Given the description of an element on the screen output the (x, y) to click on. 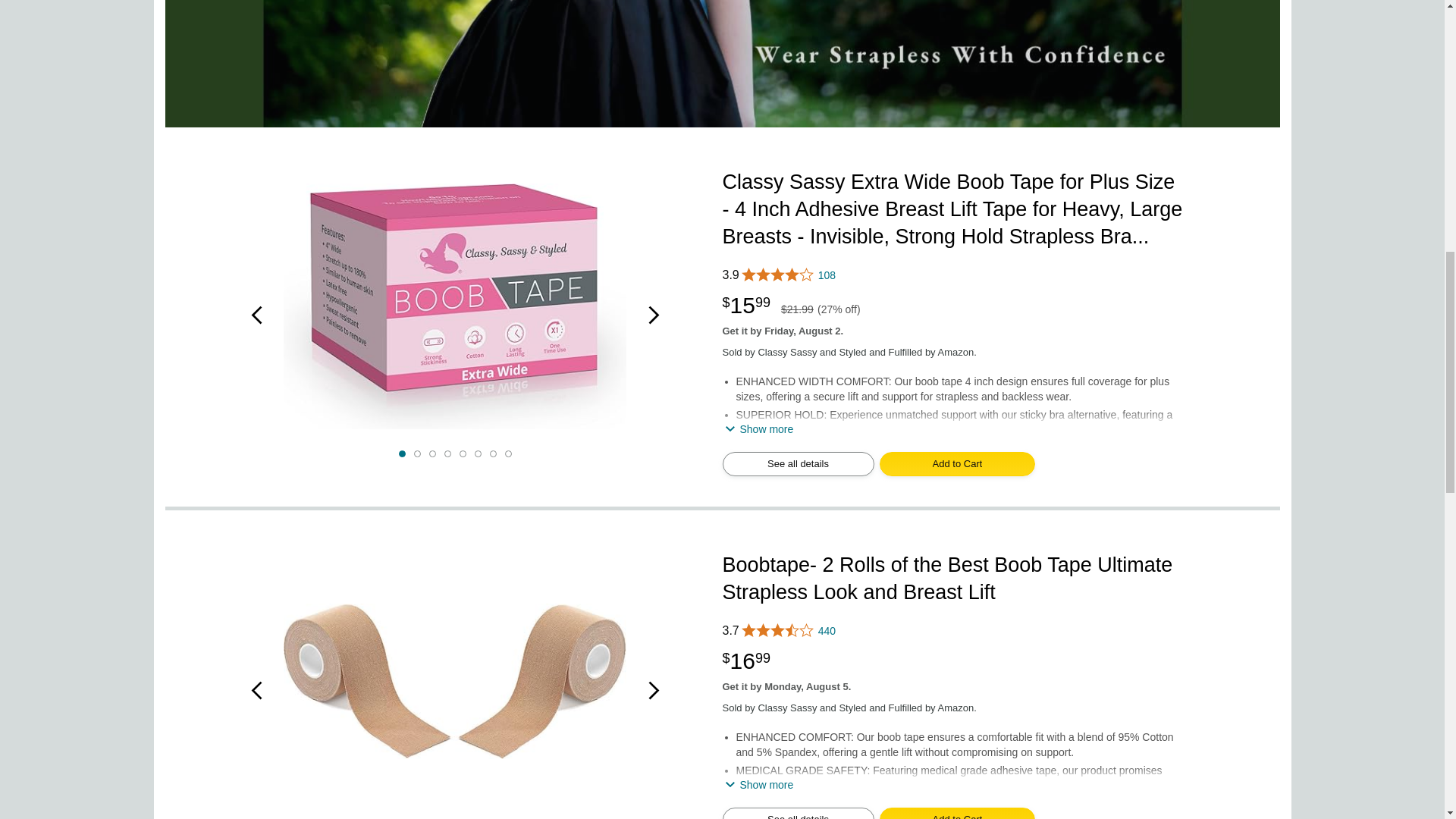
3.9 out of 5 stars (952, 274)
